Given the description of an element on the screen output the (x, y) to click on. 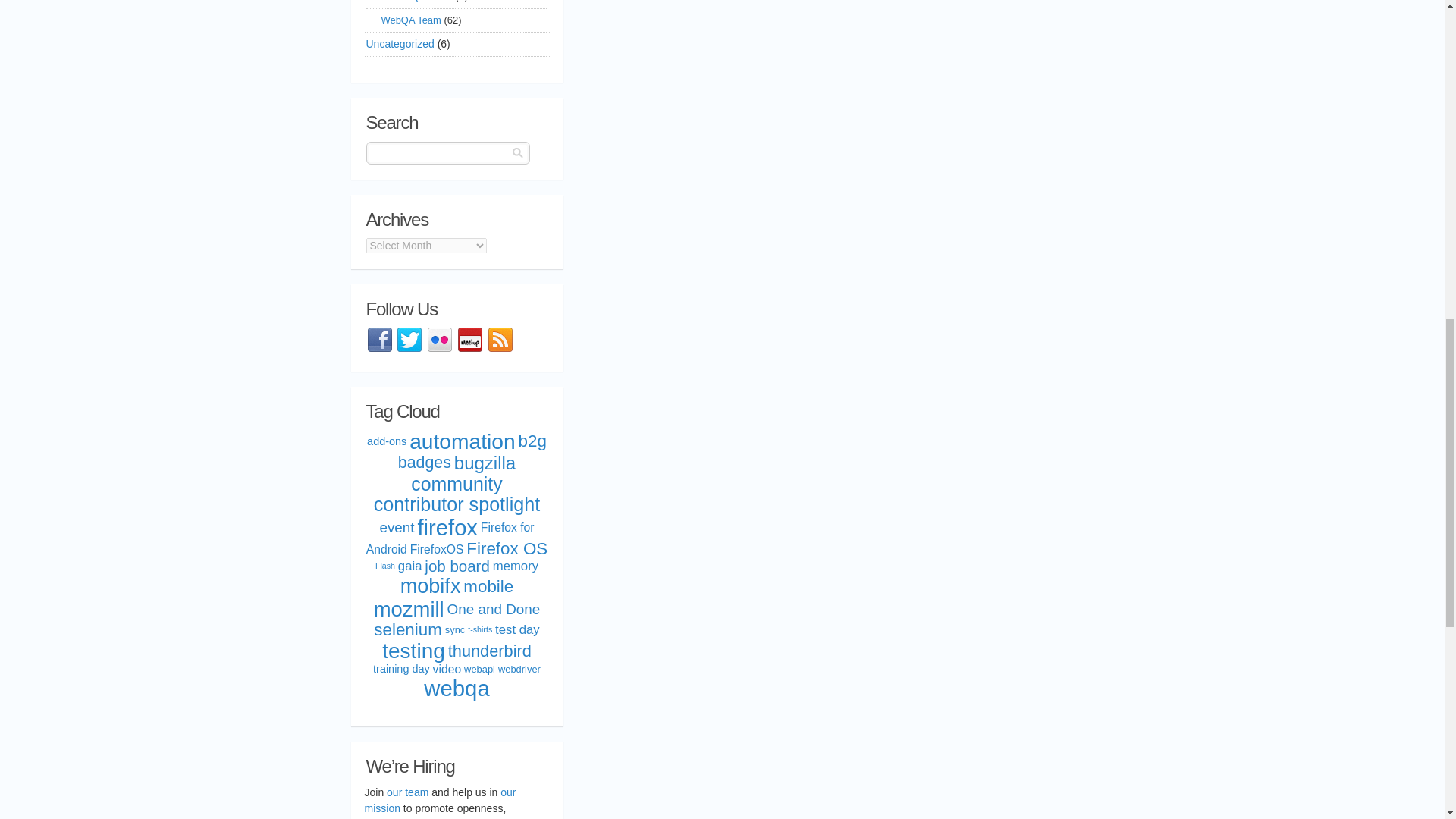
Mobile QA Team (416, 4)
Uncategorized (399, 44)
WebQA Team (410, 20)
